Given the description of an element on the screen output the (x, y) to click on. 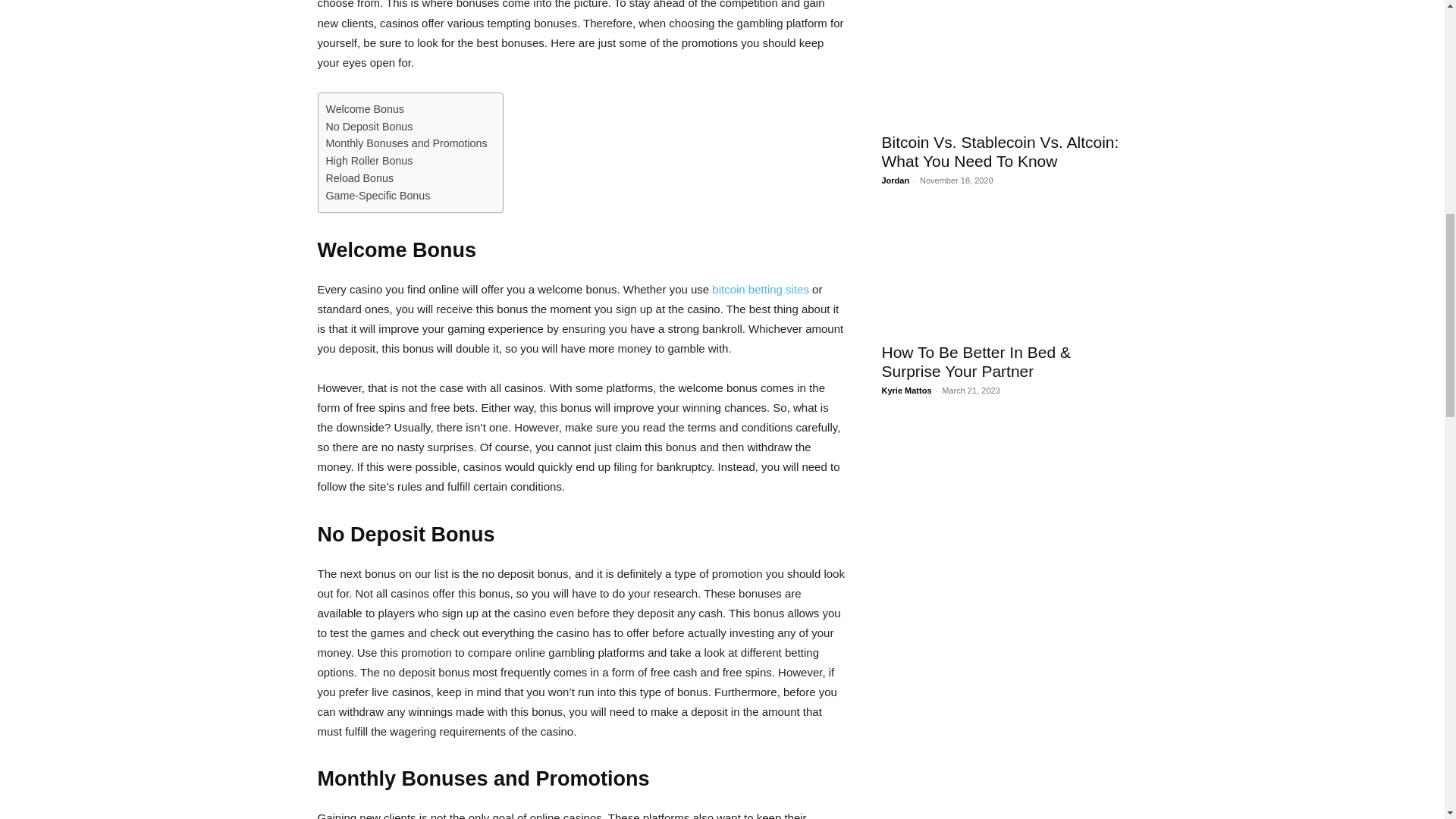
No Deposit Bonus (369, 126)
Monthly Bonuses and Promotions (406, 143)
Game-Specific Bonus (378, 195)
Monthly Bonuses and Promotions (406, 143)
Reload Bonus (360, 178)
bitcoin betting sites (760, 288)
Game-Specific Bonus (378, 195)
Welcome Bonus (365, 108)
Welcome Bonus (365, 108)
High Roller Bonus (369, 160)
